Given the description of an element on the screen output the (x, y) to click on. 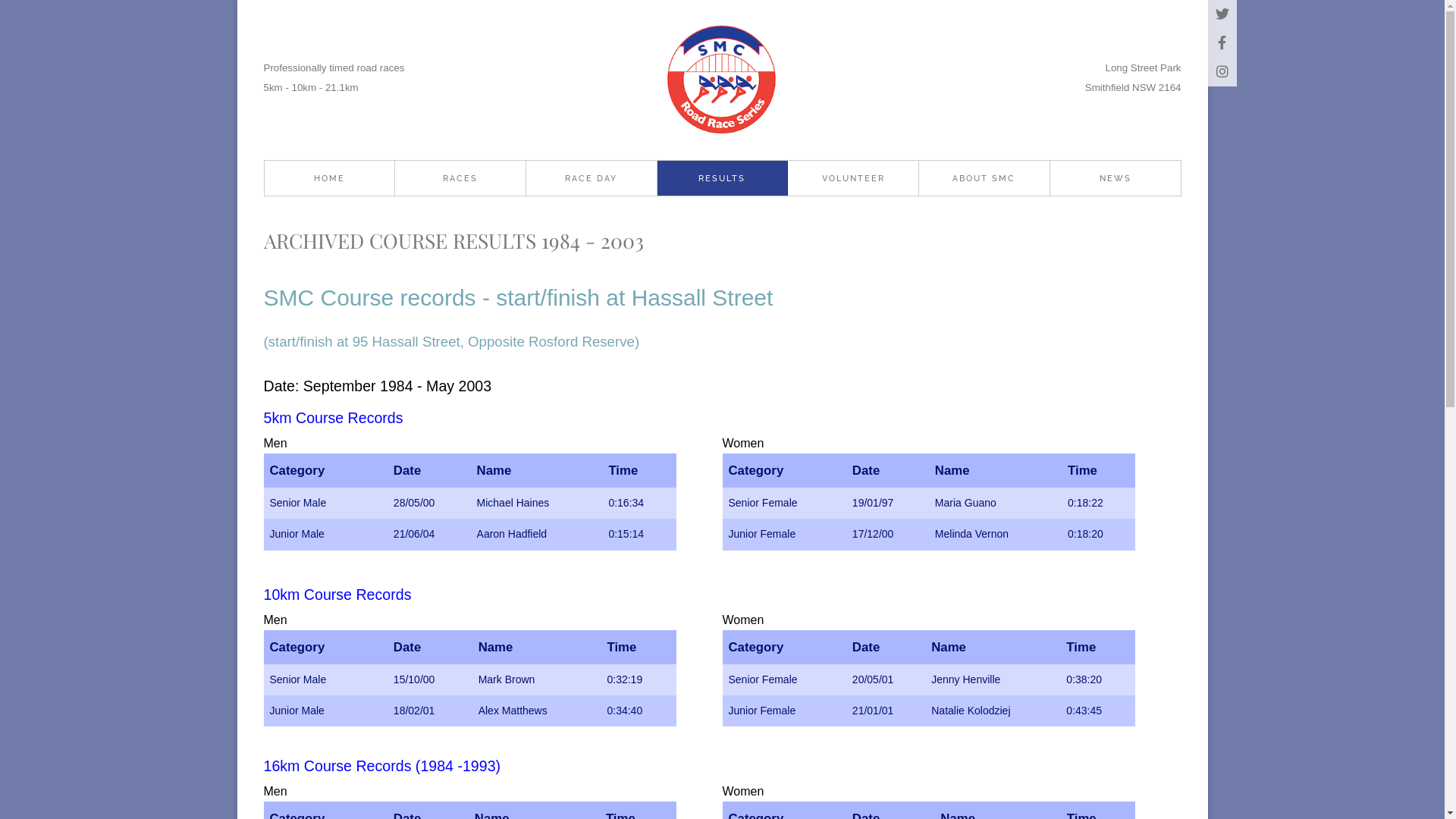
Instagram Element type: hover (1221, 71)
VOLUNTEER Element type: text (852, 177)
ABOUT SMC Element type: text (984, 177)
RACE DAY Element type: text (591, 177)
NEWS Element type: text (1115, 177)
Facebook Element type: hover (1221, 42)
RACES Element type: text (460, 177)
RESULTS Element type: text (722, 177)
HOME Element type: text (328, 177)
Twitter Element type: hover (1221, 14)
